Given the description of an element on the screen output the (x, y) to click on. 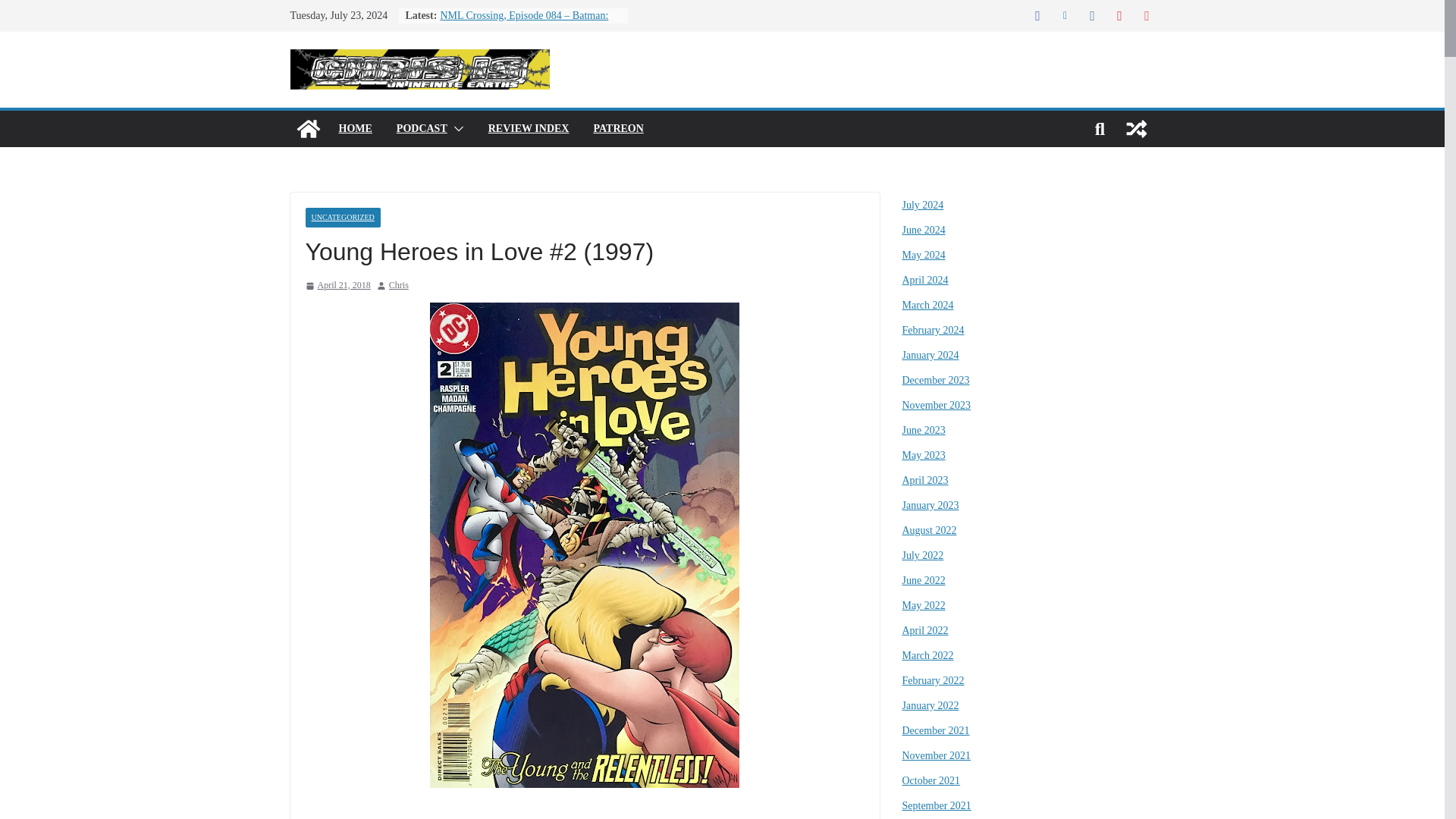
UNCATEGORIZED (342, 217)
Chris (398, 285)
4:09 pm (336, 285)
View a random post (1136, 128)
Chris is on Infinite Earths (307, 128)
PODCAST (421, 128)
Chris (398, 285)
PATREON (617, 128)
REVIEW INDEX (528, 128)
HOME (354, 128)
April 21, 2018 (336, 285)
